Given the description of an element on the screen output the (x, y) to click on. 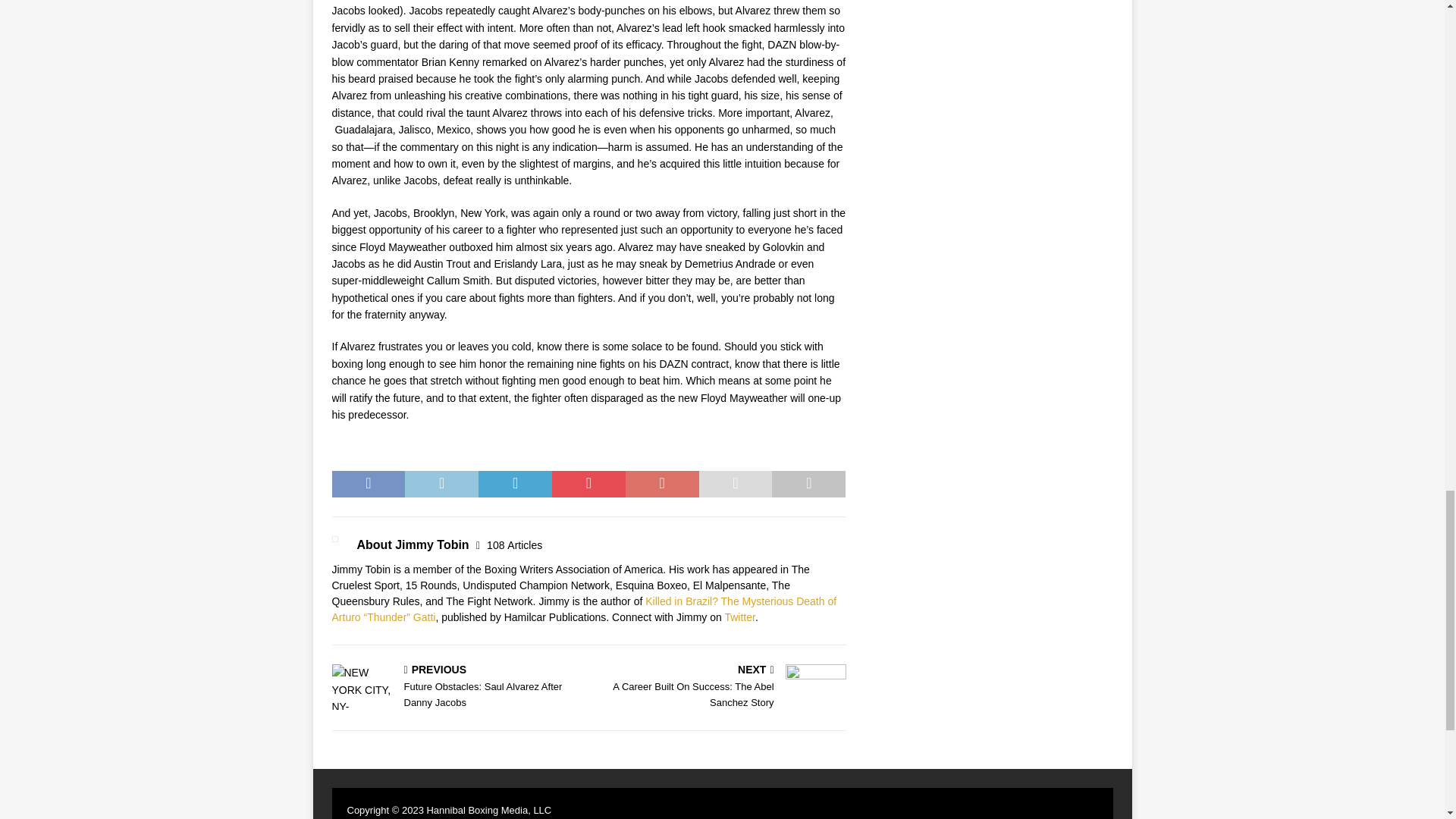
More articles written by Jimmy Tobin' (513, 544)
108 Articles (513, 544)
Twitter (720, 687)
